Given the description of an element on the screen output the (x, y) to click on. 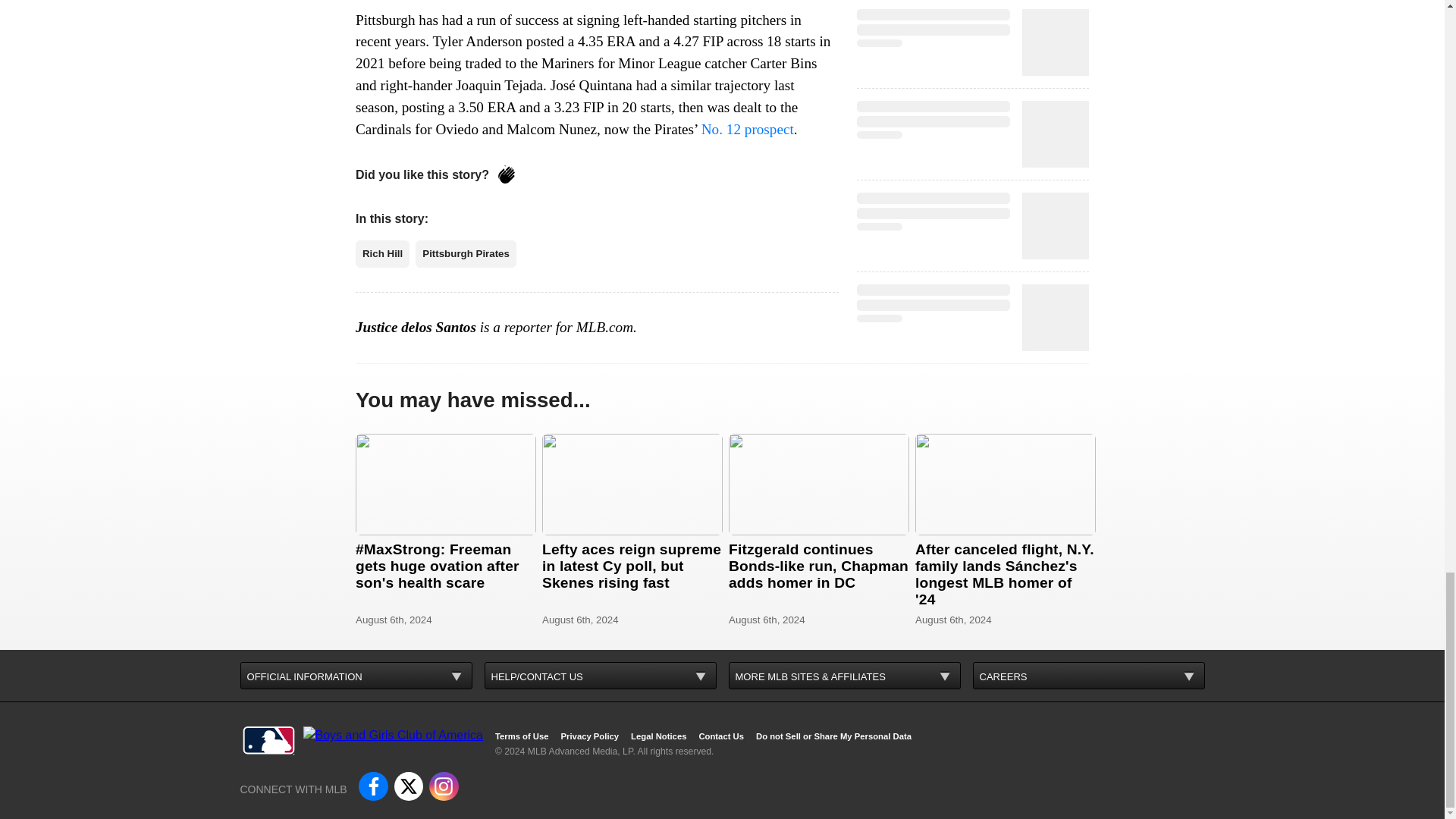
Follow on twitter (408, 786)
CAREERS (1088, 675)
Follow on facebook (372, 786)
Follow on instagram (443, 786)
OFFICIAL INFORMATION (355, 675)
